Given the description of an element on the screen output the (x, y) to click on. 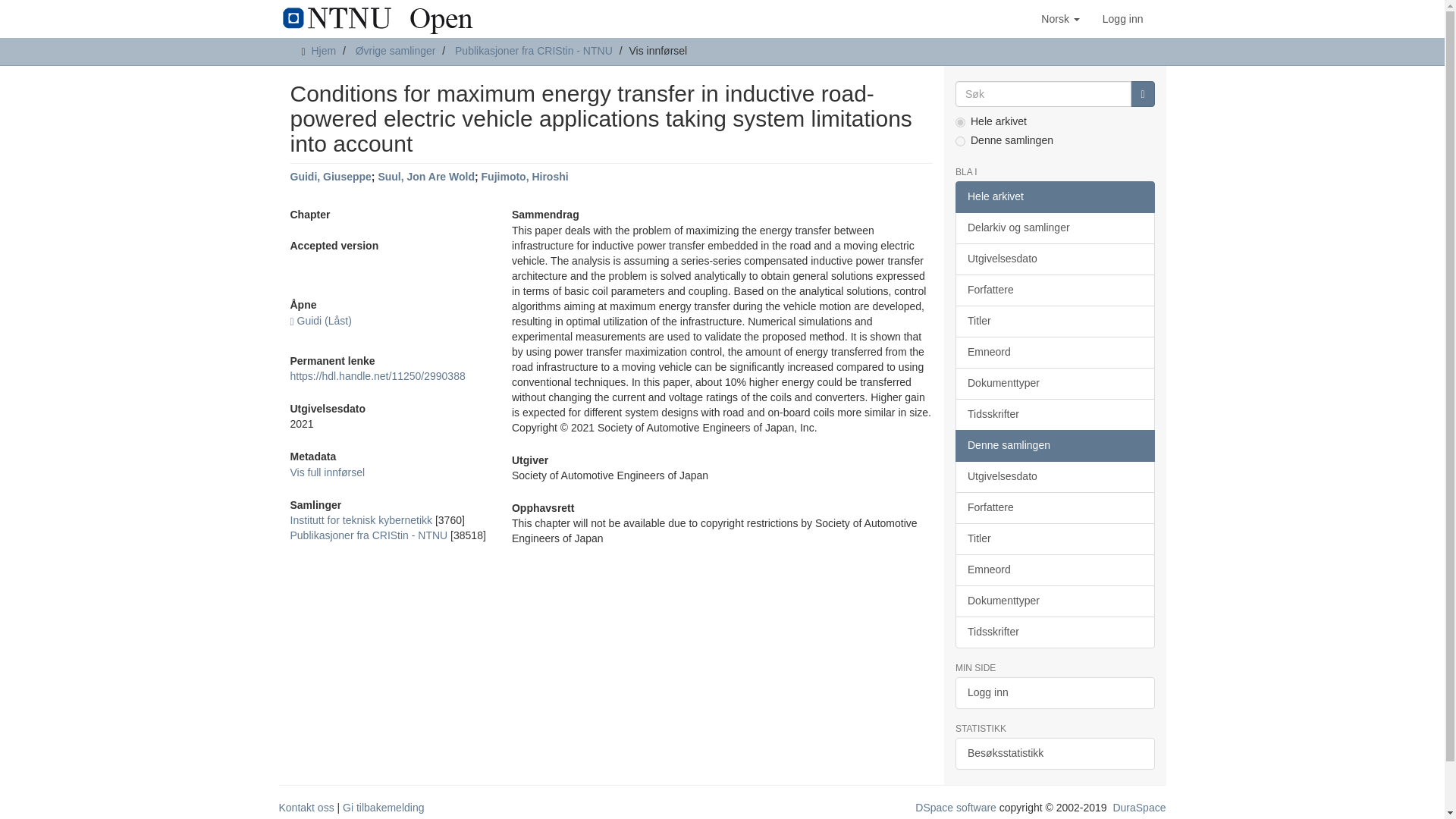
Logg inn (1122, 18)
Titler (1054, 321)
Publikasjoner fra CRIStin - NTNU (367, 535)
Utgivelsesdato (1054, 259)
Guidi, Giuseppe (330, 176)
Suul, Jon Are Wold (425, 176)
Hjem (323, 50)
Institutt for teknisk kybernetikk (360, 520)
Fujimoto, Hiroshi (525, 176)
Delarkiv og samlinger (1054, 228)
